Given the description of an element on the screen output the (x, y) to click on. 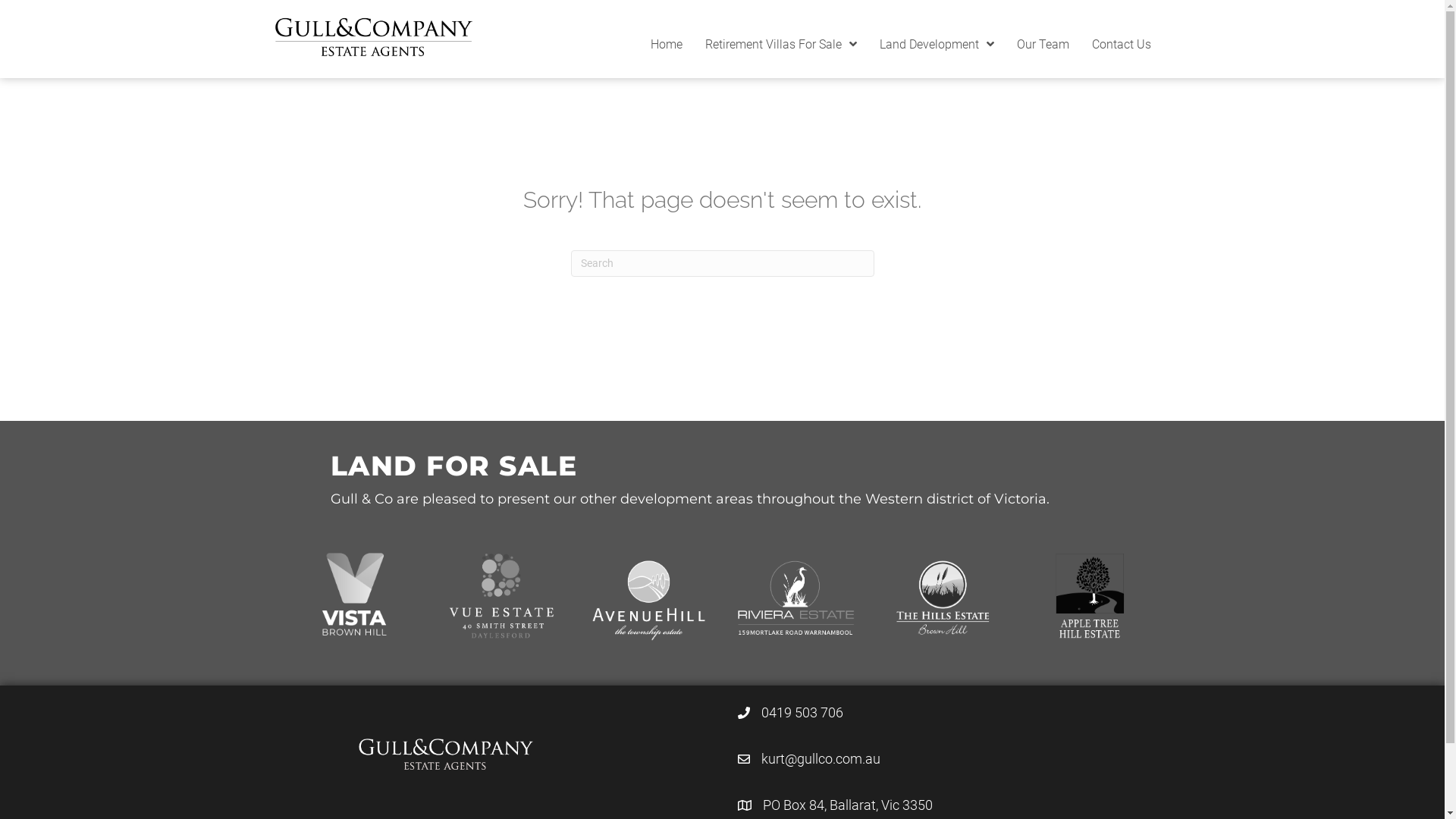
Contact Us Element type: text (1121, 44)
Gull&Co_logo Element type: hover (372, 36)
Type and press Enter to search. Element type: hover (721, 263)
Home Element type: text (666, 44)
Retirement Villas For Sale Element type: text (780, 44)
0419 503 706 Element type: text (802, 712)
Gull&co_logo Element type: hover (444, 753)
Land Development Element type: text (936, 44)
Our Team Element type: text (1042, 44)
kurt@gullco.com.au Element type: text (820, 758)
PO Box 84, Ballarat, Vic 3350 Element type: text (847, 805)
